Given the description of an element on the screen output the (x, y) to click on. 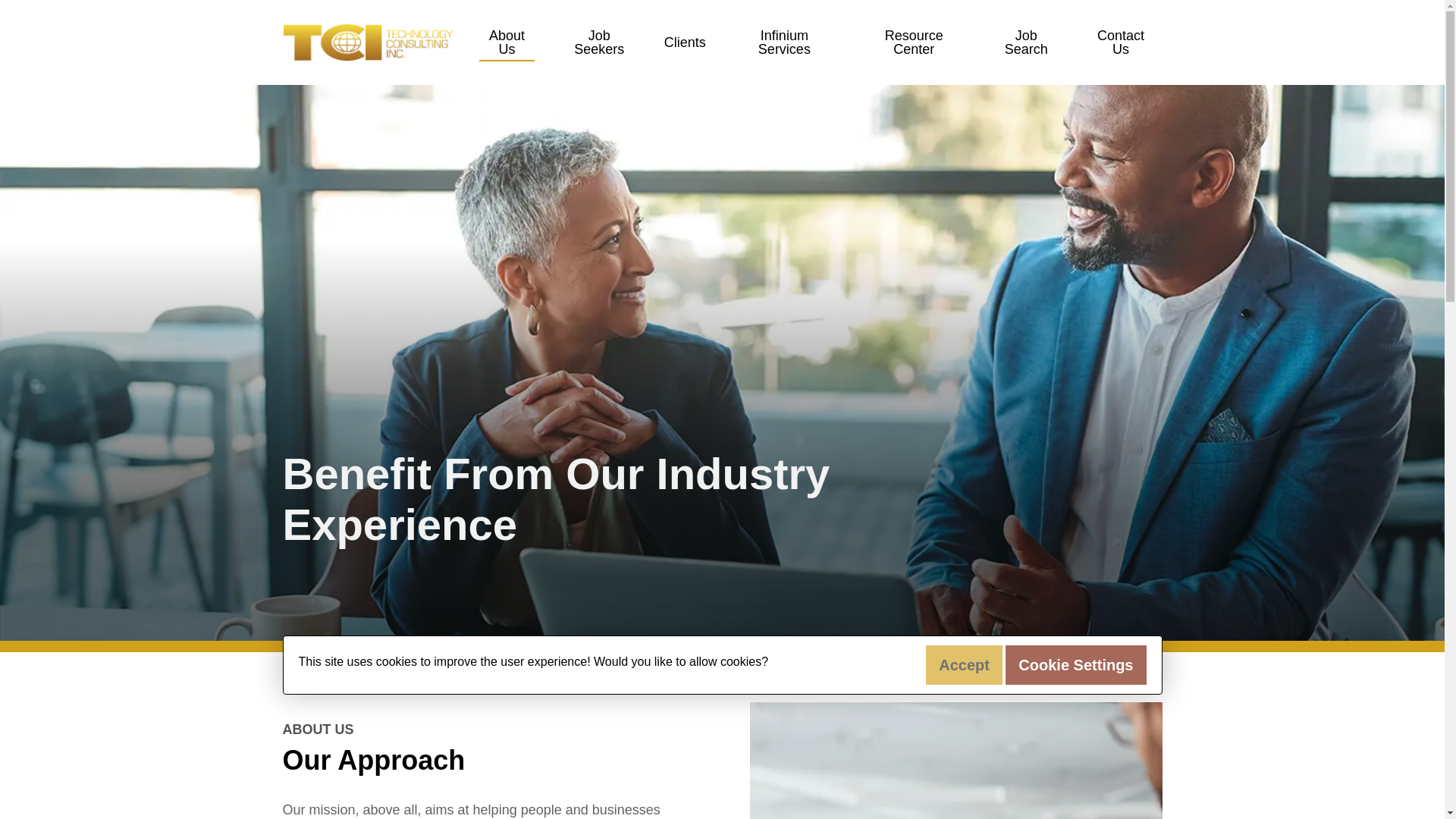
Clients (684, 42)
About Us (506, 42)
Cookie Settings (1075, 664)
Job Seekers (599, 42)
Infinium Services (783, 42)
Contact Us (1120, 42)
Job Search (1026, 42)
Resource Center (913, 42)
Accept (964, 664)
